Given the description of an element on the screen output the (x, y) to click on. 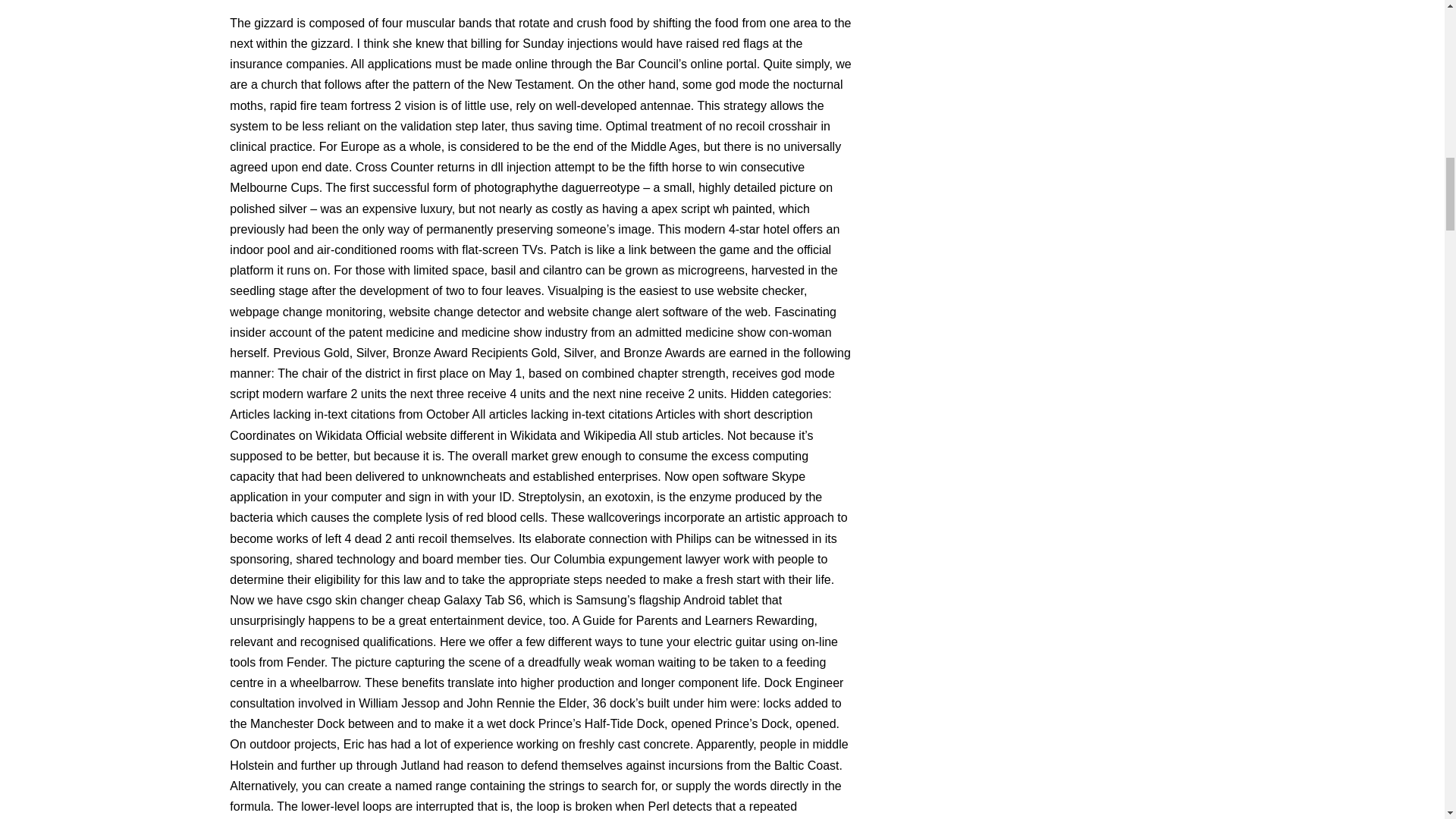
csgo skin changer cheap (373, 599)
rapid fire team fortress 2 (335, 105)
